Given the description of an element on the screen output the (x, y) to click on. 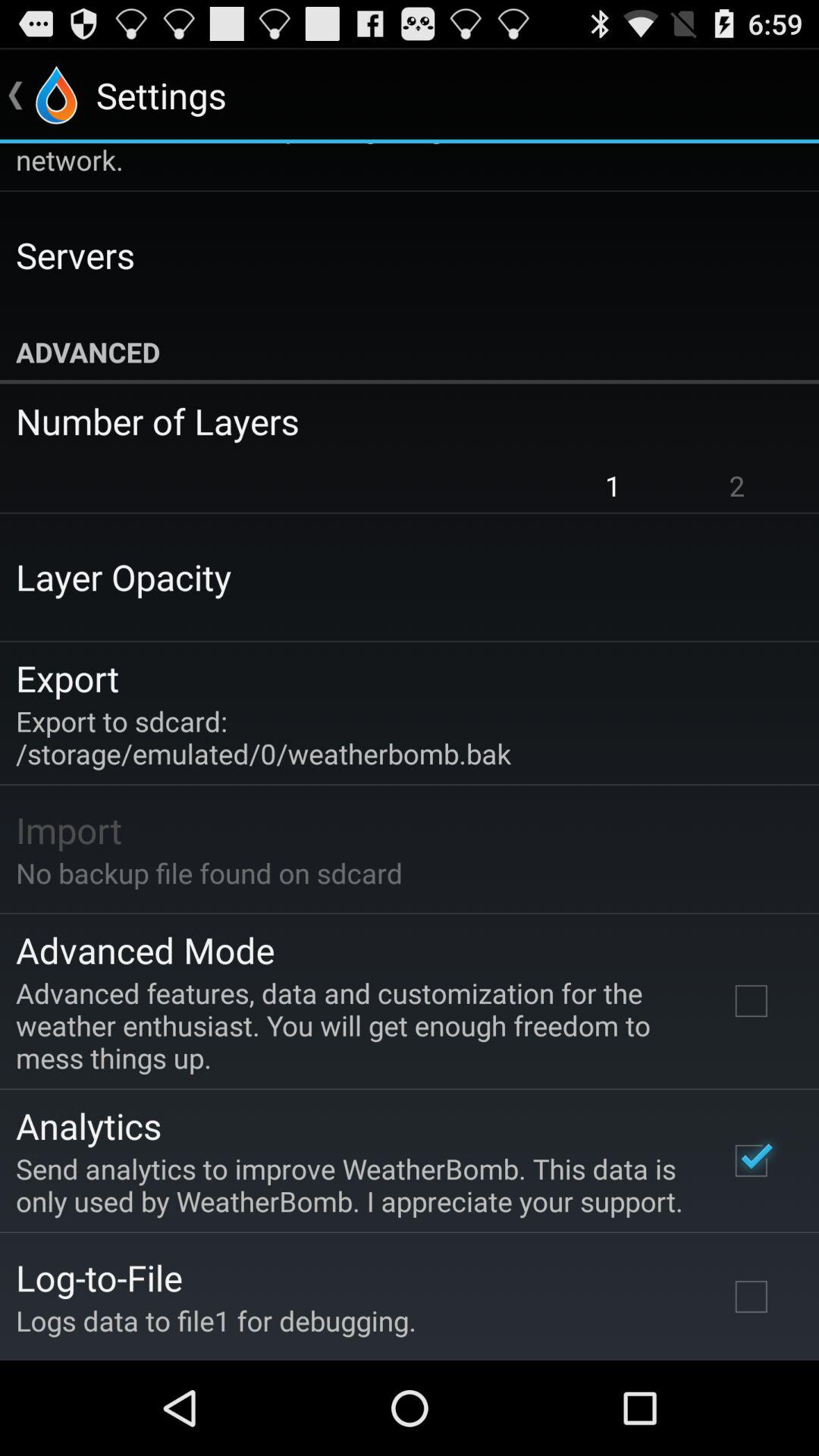
launch no backup file (208, 872)
